Given the description of an element on the screen output the (x, y) to click on. 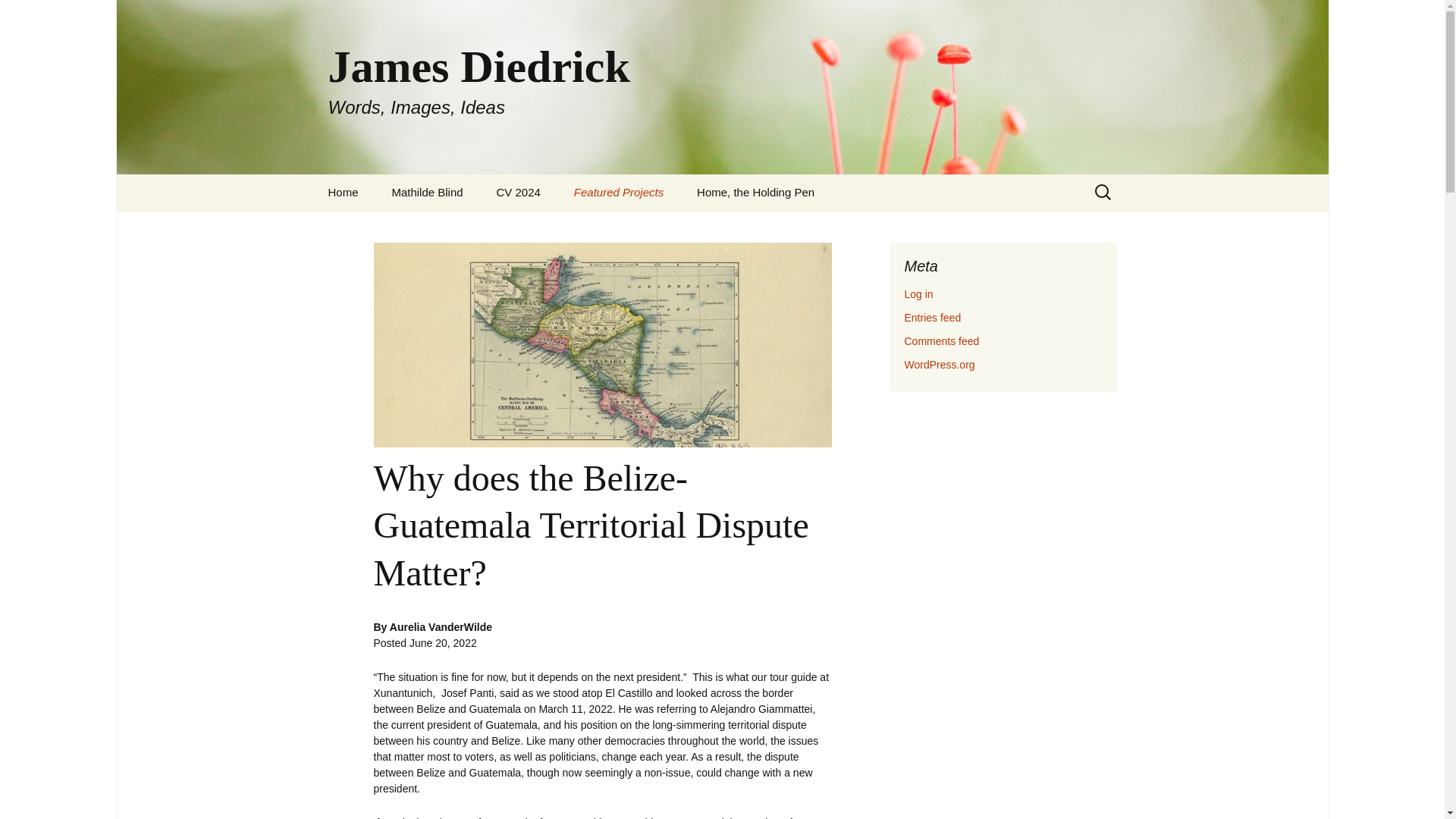
Home (342, 192)
Home, the Holding Pen (755, 192)
Featured Projects (618, 192)
CV 2024 (518, 192)
Search (18, 15)
